Given the description of an element on the screen output the (x, y) to click on. 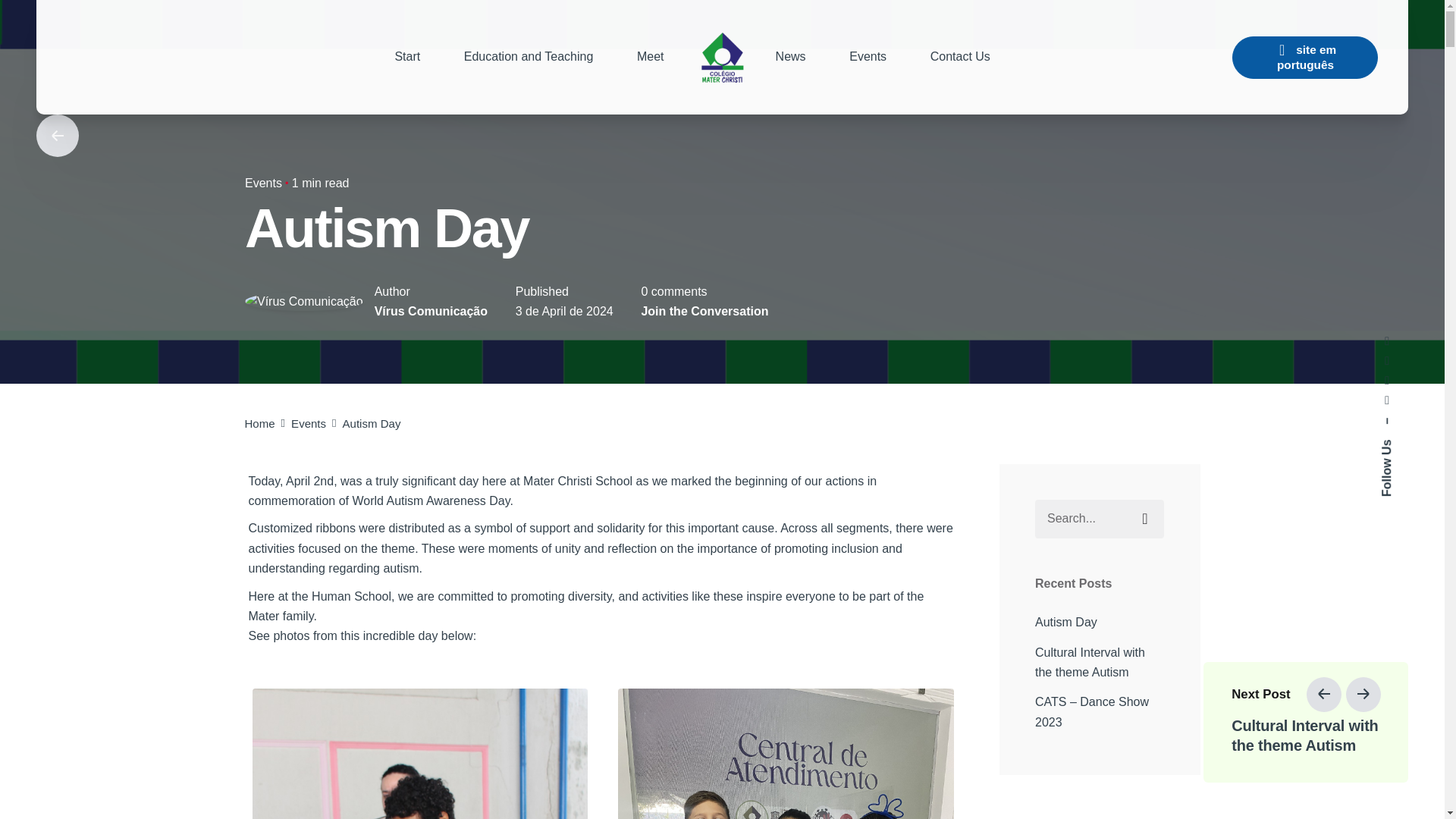
Jorge Tuzko (507, 780)
Autism Day (1066, 622)
Education and Teaching (528, 56)
Cultural Interval with the theme Autism (1099, 662)
Events (867, 56)
News (791, 56)
Contact Us (959, 56)
Join the Conversation (704, 310)
Events (308, 422)
Start (407, 56)
Home (259, 422)
Events (262, 182)
Meet (649, 56)
